Given the description of an element on the screen output the (x, y) to click on. 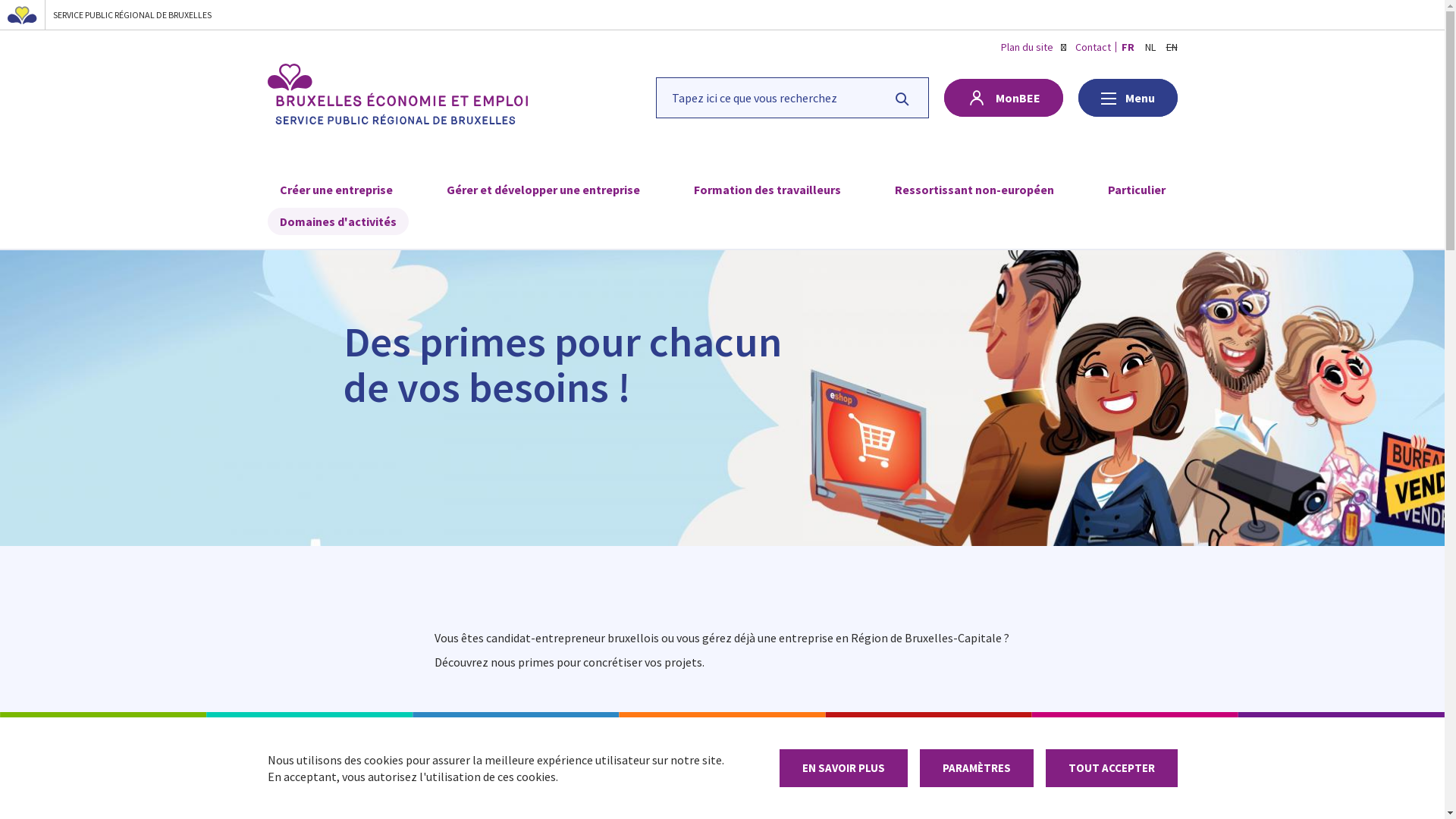
Formation des travailleurs Element type: text (766, 189)
Rechercher Element type: hover (791, 97)
NL Element type: text (1150, 46)
FR Element type: text (1126, 46)
Menu Element type: text (1127, 97)
TOUT ACCEPTER Element type: text (1110, 768)
EN SAVOIR PLUS Element type: text (843, 768)
Contact Element type: text (1092, 46)
Particulier Element type: text (1135, 189)
Rechercher Element type: text (901, 97)
Plan du site Element type: text (1027, 46)
Submit Element type: text (25, 14)
MonBEE Element type: text (1002, 97)
Aller au contenu principal Element type: text (0, 0)
